Given the description of an element on the screen output the (x, y) to click on. 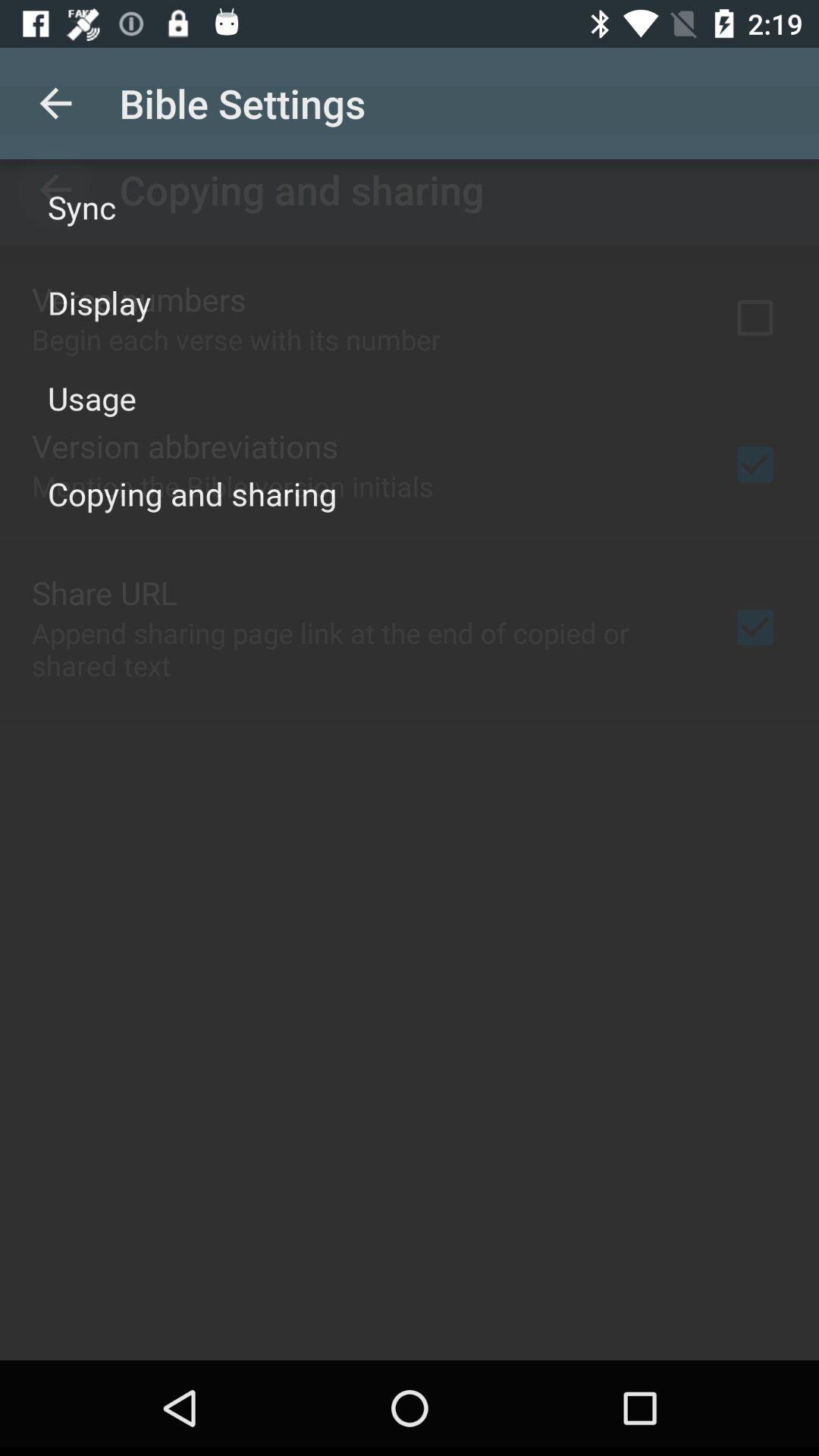
flip to the display item (99, 302)
